Given the description of an element on the screen output the (x, y) to click on. 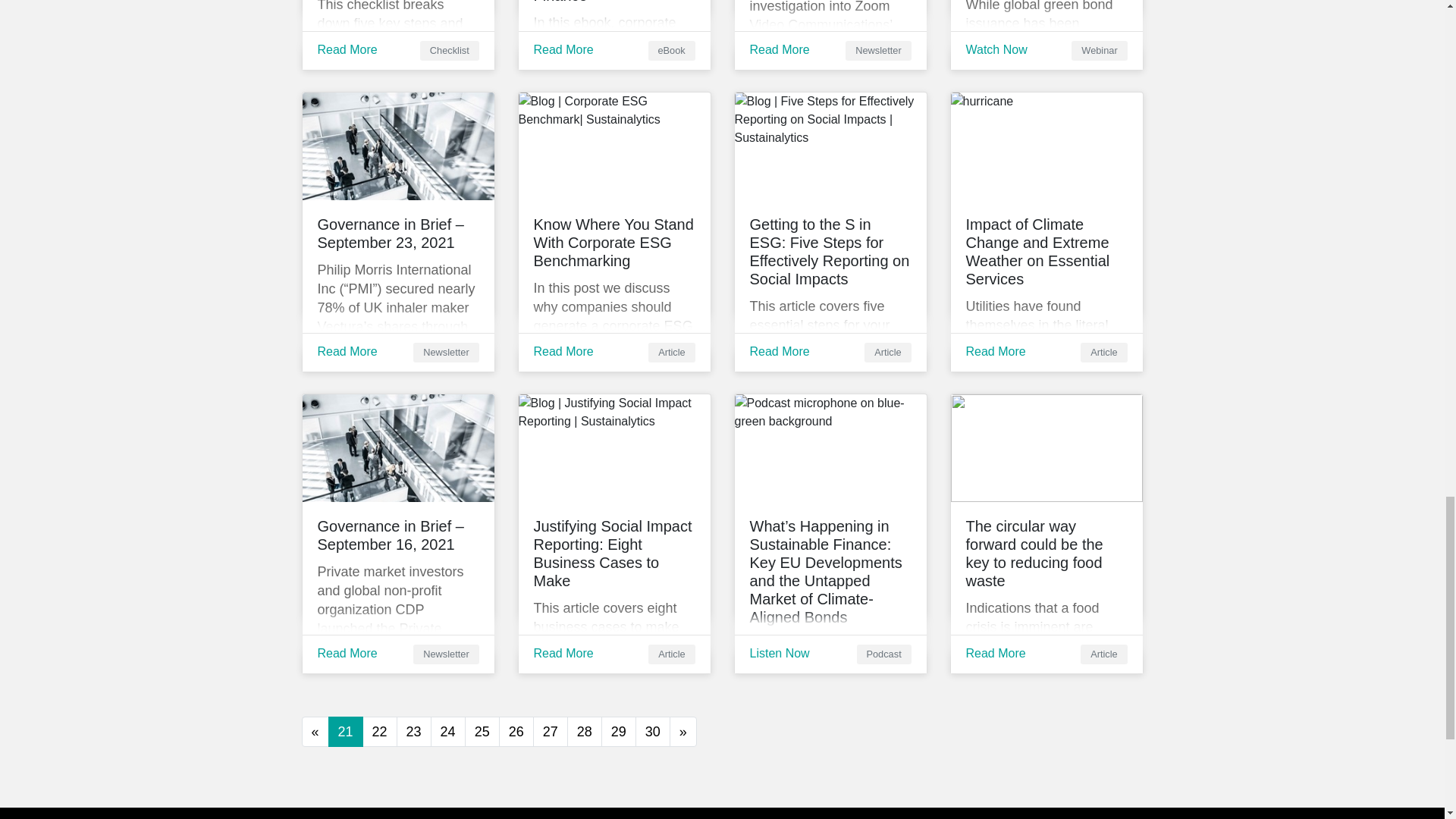
governance in brief (397, 145)
Five-Steps-Effectively-Reporting-Social Impacts-Header-Thum (829, 145)
PA blog header - apples (614, 145)
hurricane (1046, 145)
Podcast header - azure2 (829, 447)
Blog-Justifying-Social-Impact-Reporting (614, 447)
governance in brief (397, 447)
